Given the description of an element on the screen output the (x, y) to click on. 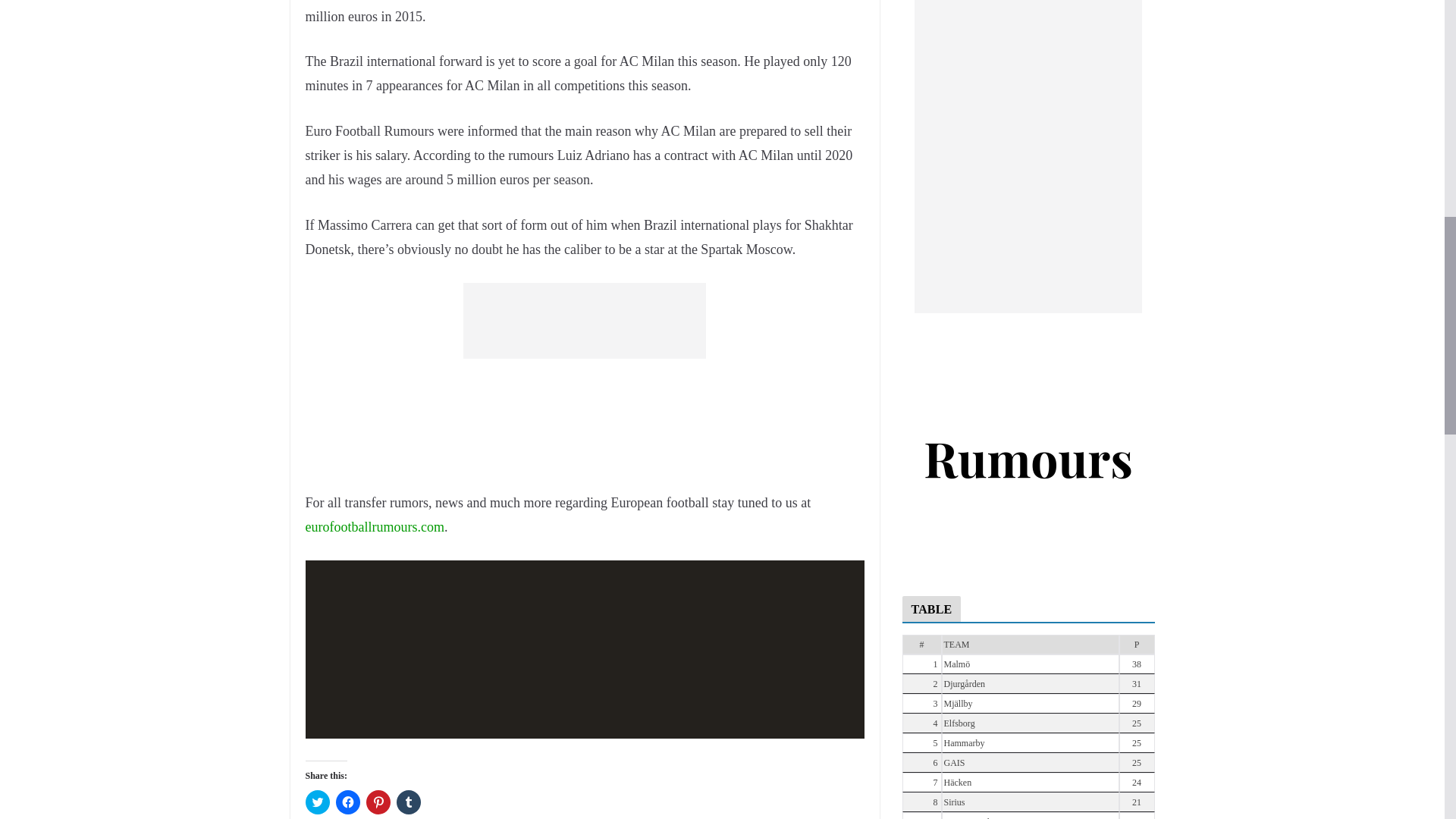
Click to share on Pinterest (377, 802)
Click to share on Tumblr (408, 802)
Click to share on Twitter (316, 802)
Click to share on Facebook (346, 802)
